Given the description of an element on the screen output the (x, y) to click on. 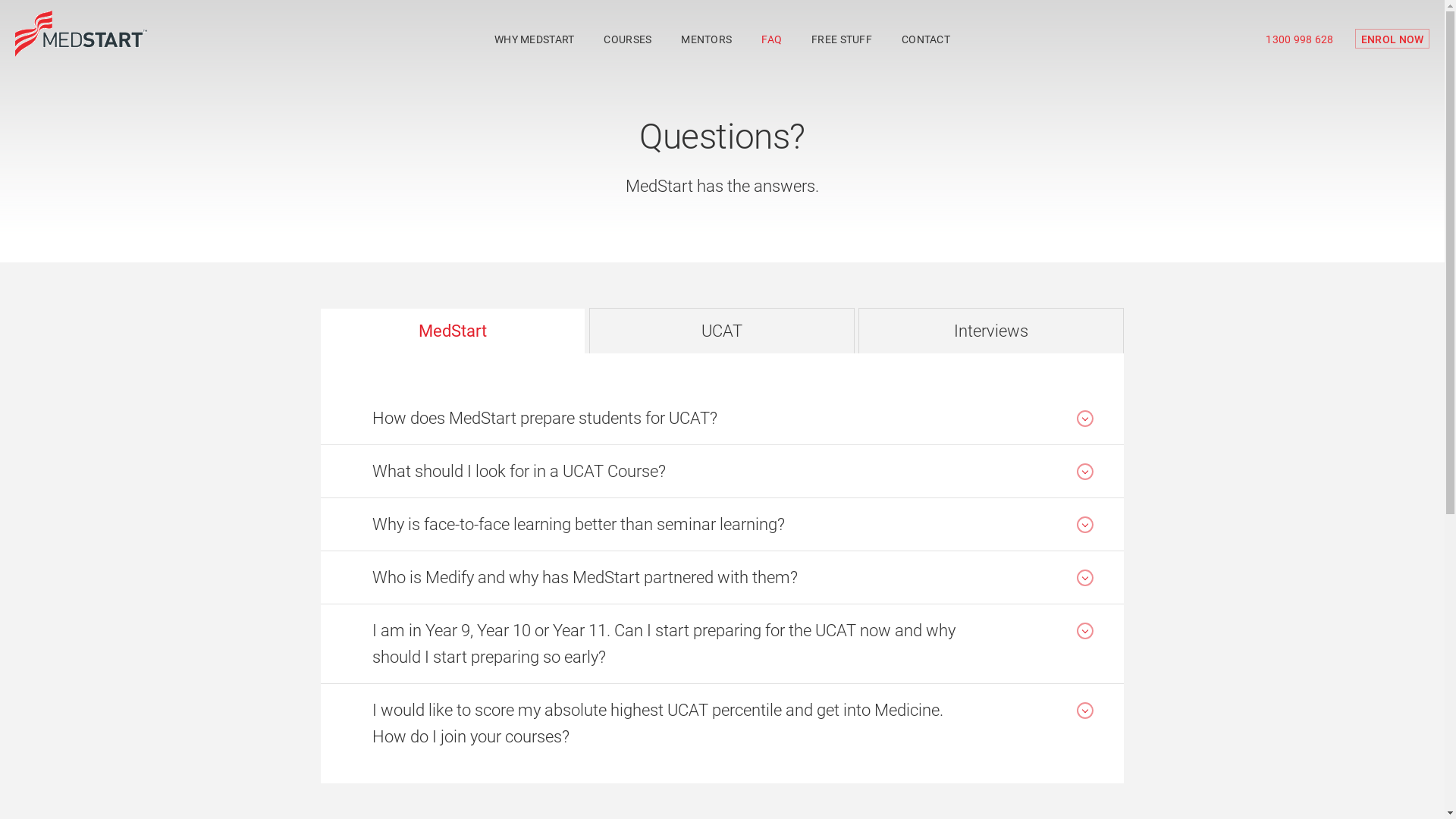
UCAT Element type: text (720, 330)
Interviews Element type: text (990, 330)
WHY MEDSTART Element type: text (534, 39)
Skip to content Element type: text (0, 0)
1300 998 628 Element type: text (1301, 39)
MENTORS Element type: text (706, 39)
FAQ Element type: text (771, 39)
ENROL NOW Element type: text (1392, 38)
FREE STUFF Element type: text (841, 39)
MedStart Element type: text (451, 331)
CONTACT Element type: text (925, 39)
COURSES Element type: text (627, 39)
